Given the description of an element on the screen output the (x, y) to click on. 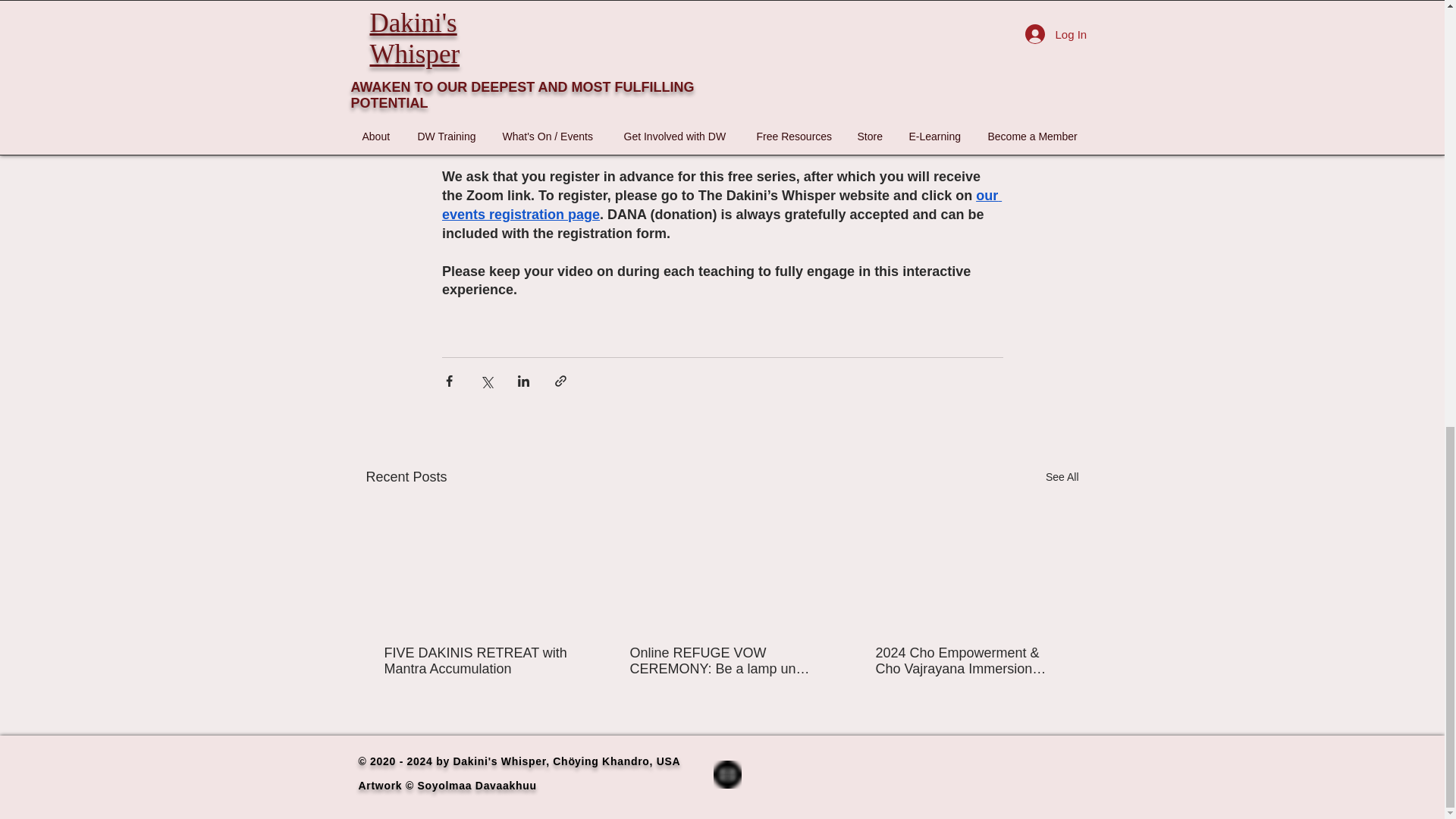
our events registration page (721, 204)
See All (1061, 477)
